Given the description of an element on the screen output the (x, y) to click on. 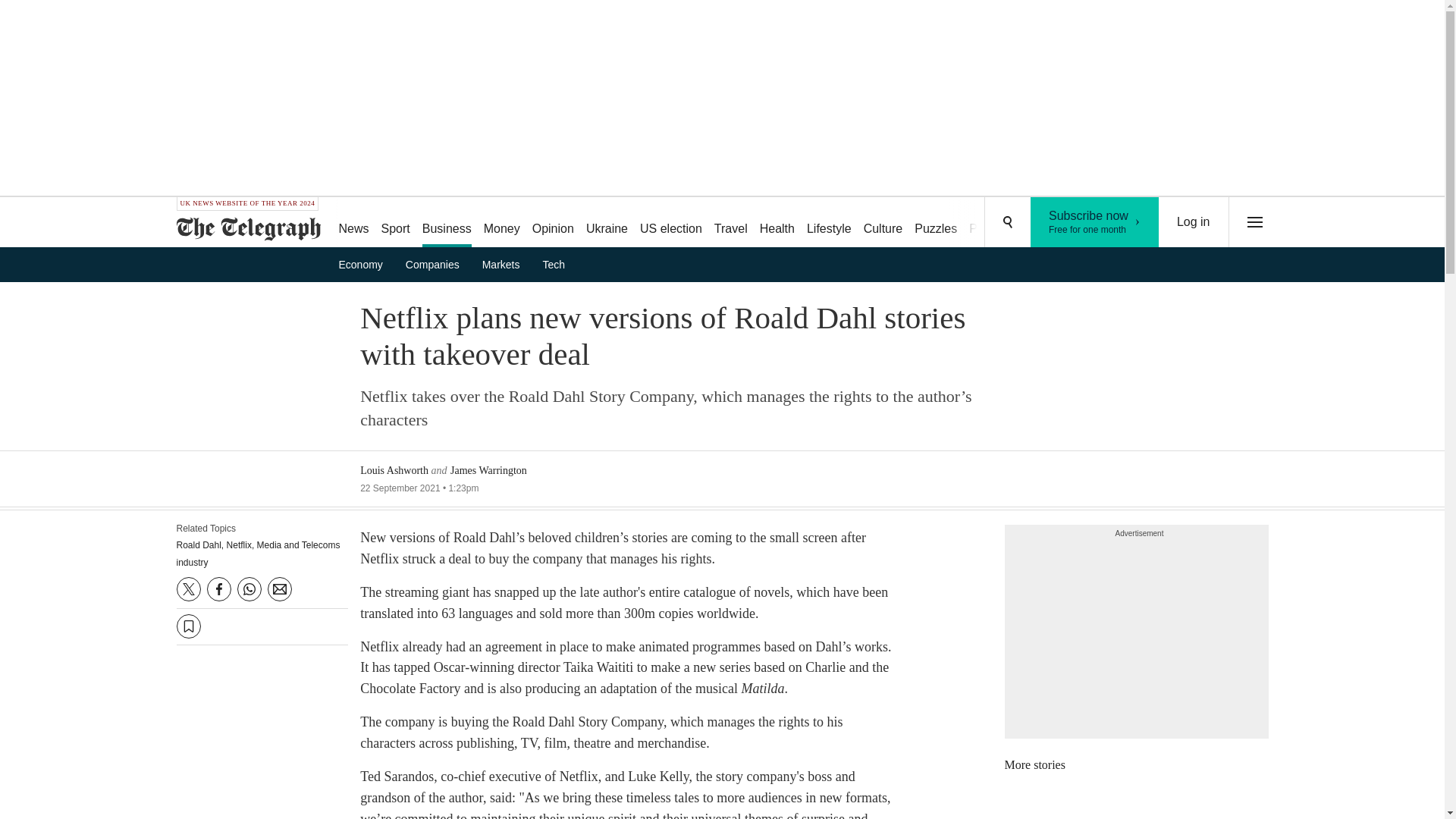
Travel (730, 223)
US election (670, 223)
Money (501, 223)
Opinion (552, 223)
Log in (1193, 222)
Puzzles (935, 223)
Lifestyle (828, 223)
Ukraine (606, 223)
Companies (437, 264)
Podcasts (993, 223)
